Given the description of an element on the screen output the (x, y) to click on. 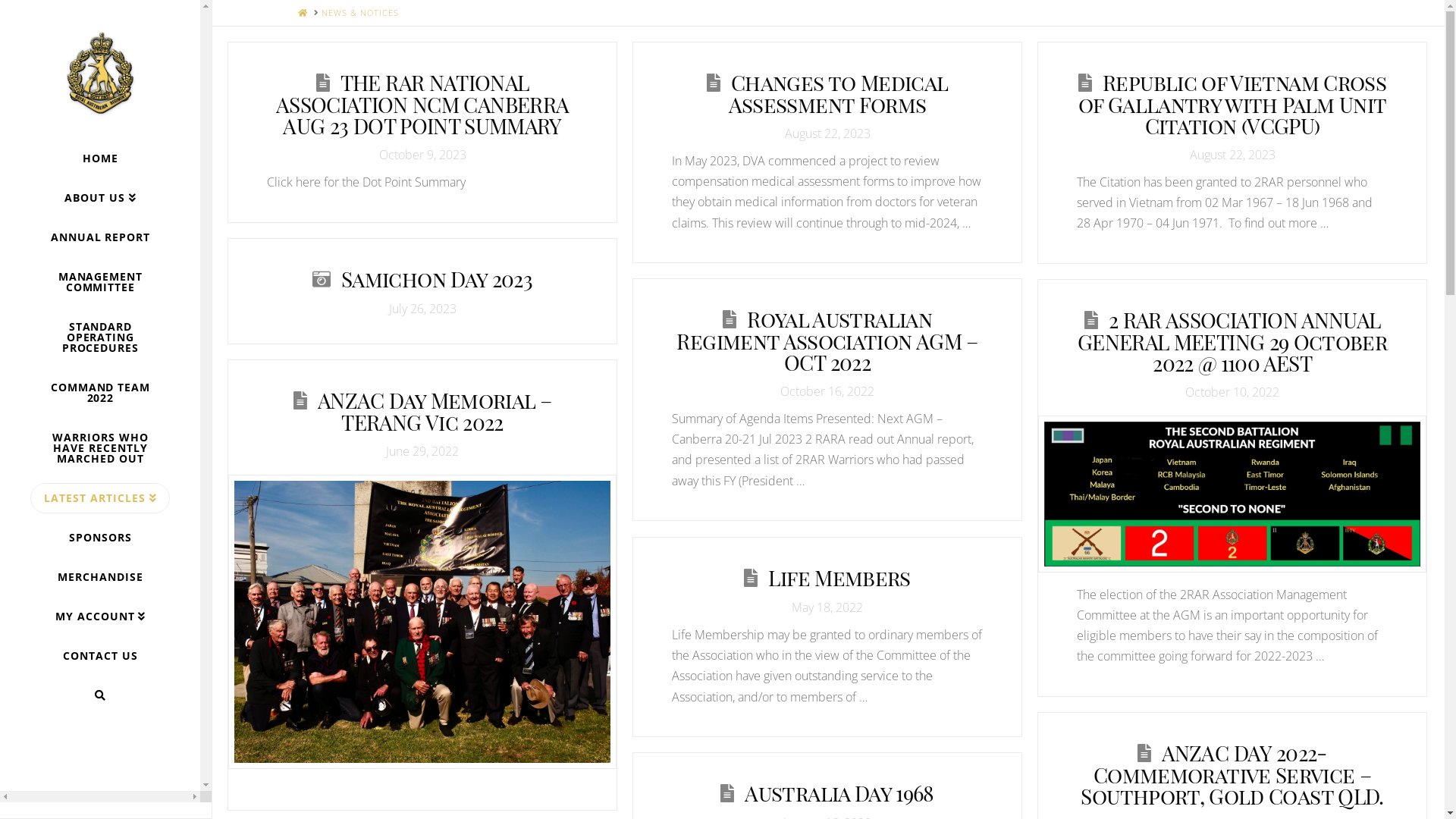
Changes to Medical Assessment Forms Element type: text (838, 93)
Life Members Element type: text (839, 577)
WARRIORS WHO HAVE RECENTLY MARCHED OUT Element type: text (100, 447)
ABOUT US Element type: text (100, 197)
ANNUAL REPORT Element type: text (100, 237)
CONTACT US Element type: text (100, 655)
NEWS & NOTICES Element type: text (359, 12)
SPONSORS Element type: text (100, 537)
HOME Element type: text (100, 158)
Australia Day 1968 Element type: text (838, 792)
LATEST ARTICLES Element type: text (100, 497)
HOME Element type: text (302, 12)
MERCHANDISE Element type: text (100, 576)
COMMAND TEAM 2022 Element type: text (100, 392)
MANAGEMENT COMMITTEE Element type: text (100, 282)
MY ACCOUNT Element type: text (100, 616)
STANDARD OPERATING PROCEDURES Element type: text (100, 337)
Samichon Day 2023 Element type: text (436, 278)
